Given the description of an element on the screen output the (x, y) to click on. 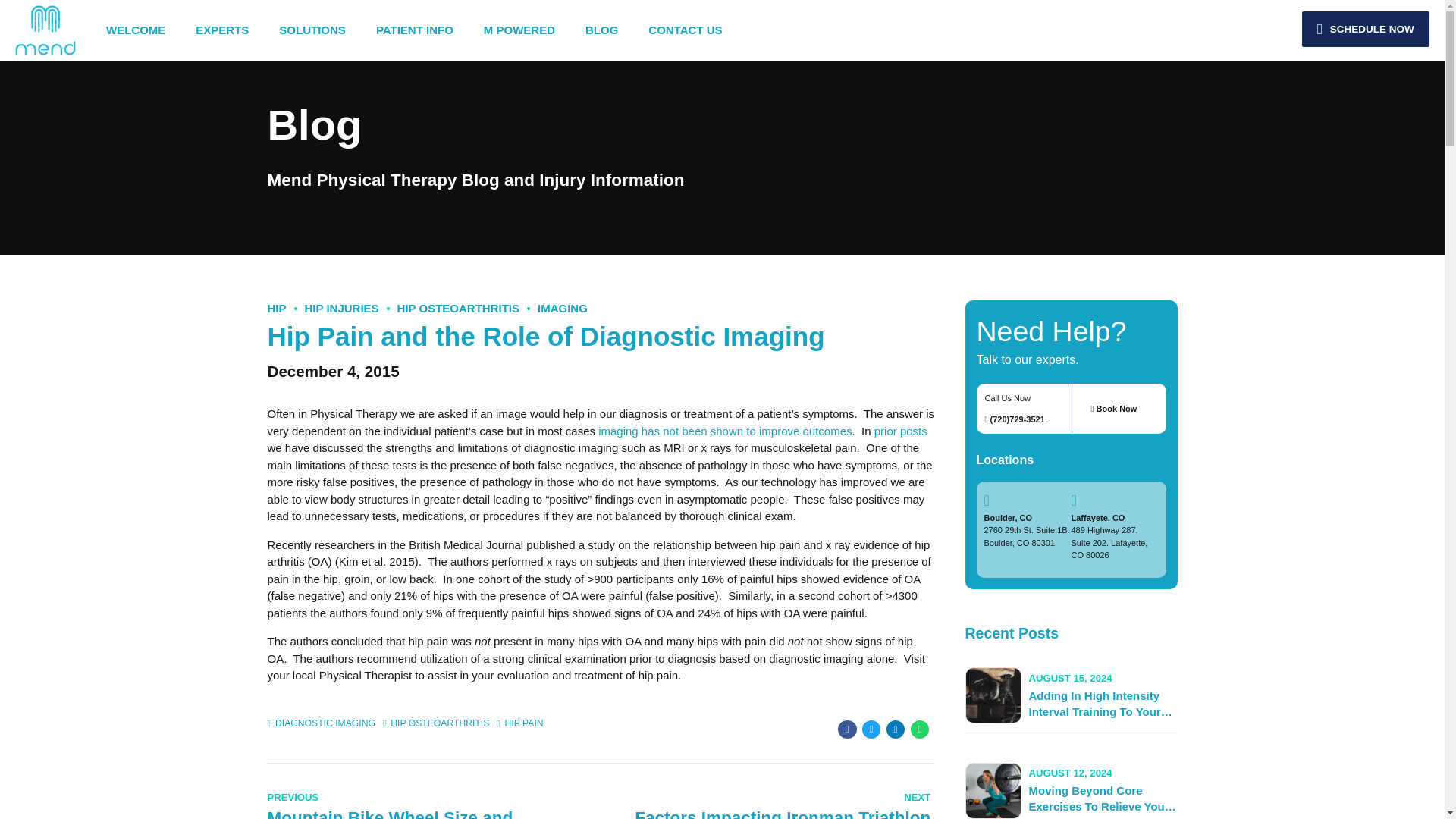
Moving Beyond Core Exercises To Relieve Your Low Back Pain (1100, 801)
PATIENT INFO (413, 30)
Share on Twitter (870, 729)
SCHEDULE NOW (1365, 28)
WELCOME (135, 30)
Share on Facebook (847, 729)
SOLUTIONS (312, 30)
Share on WhatsApp (919, 729)
M POWERED (518, 30)
